Given the description of an element on the screen output the (x, y) to click on. 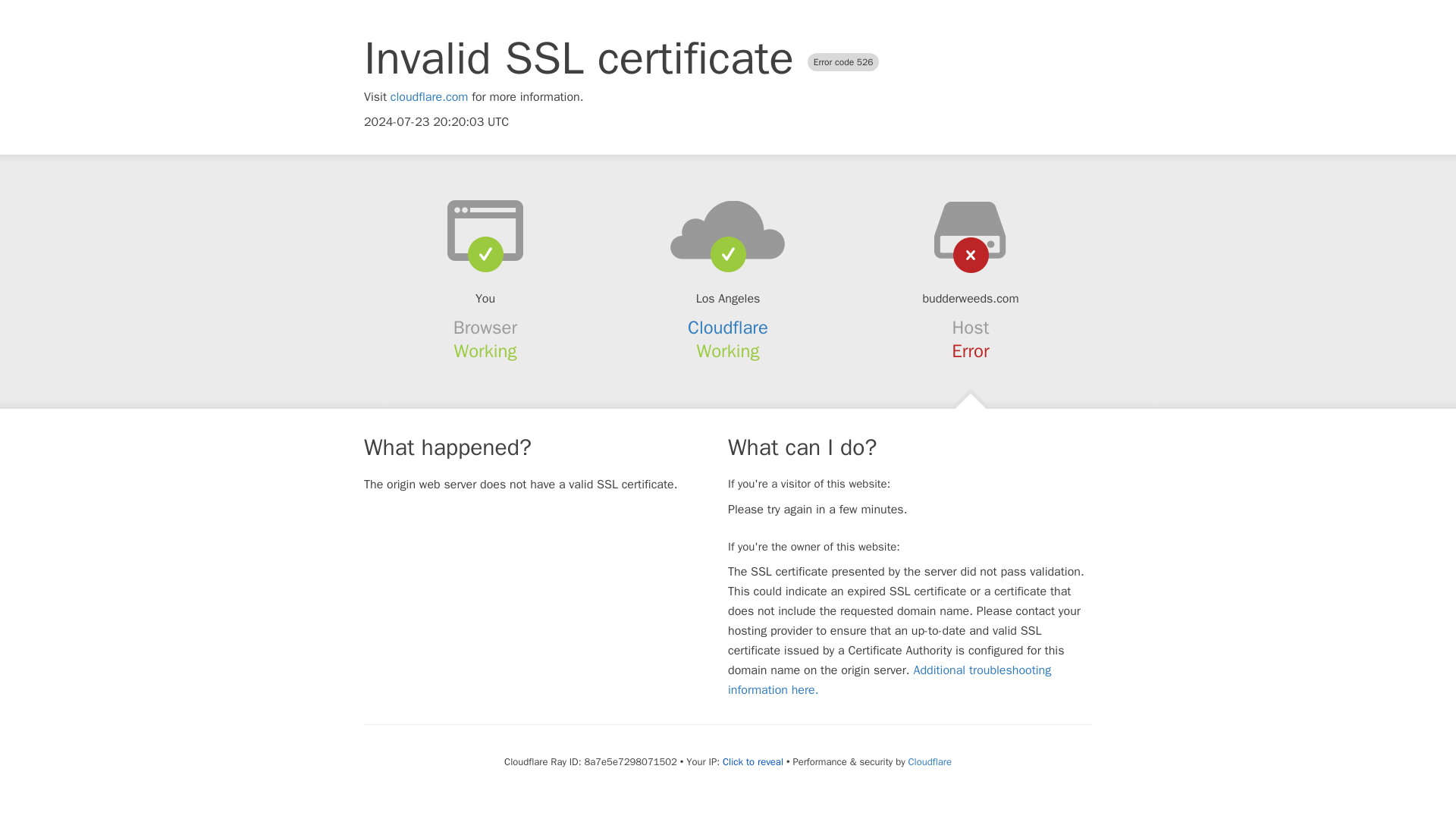
cloudflare.com (429, 96)
Click to reveal (752, 762)
Additional troubleshooting information here. (889, 679)
Cloudflare (930, 761)
Cloudflare (727, 327)
